Given the description of an element on the screen output the (x, y) to click on. 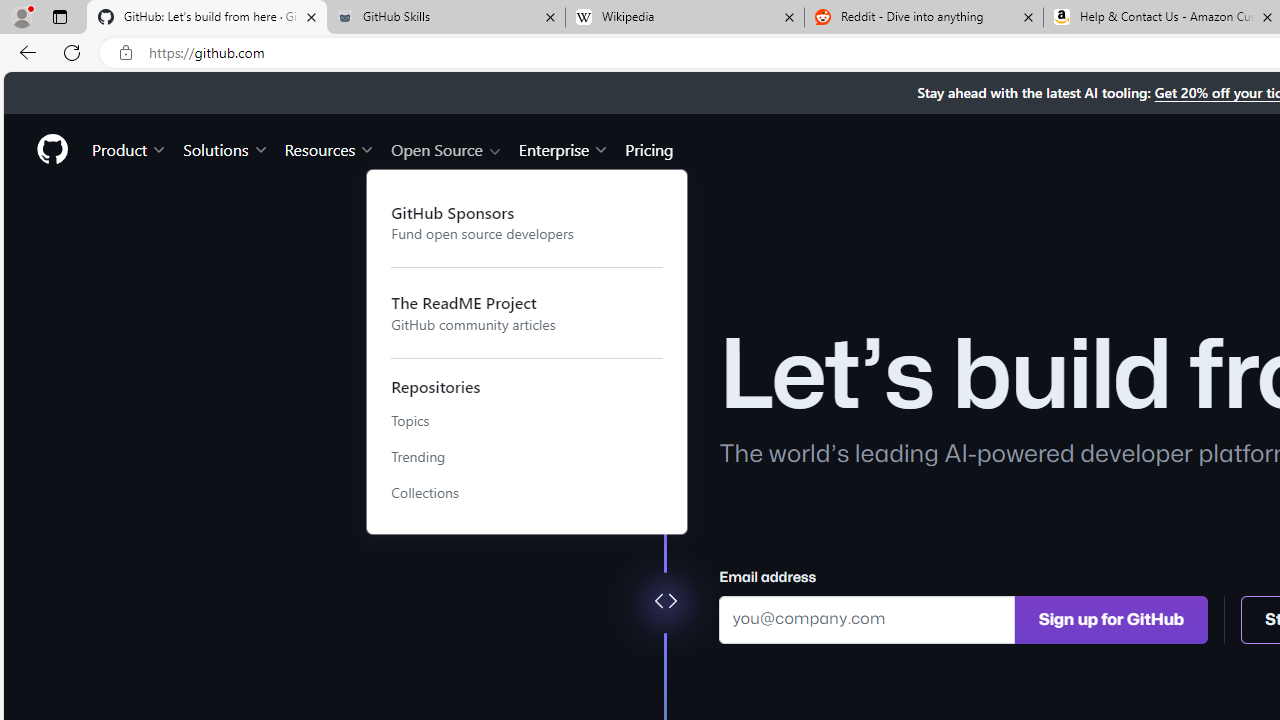
Open Source (446, 148)
Enterprise (563, 148)
The ReadME Project GitHub community articles (527, 312)
Resources (330, 148)
The ReadME ProjectGitHub community articles (527, 312)
Pricing (649, 148)
Homepage (51, 149)
Sign up for GitHub (1111, 618)
GitHub SponsorsFund open source developers (527, 221)
Trending (527, 457)
Pricing (649, 148)
Solutions (225, 148)
